Given the description of an element on the screen output the (x, y) to click on. 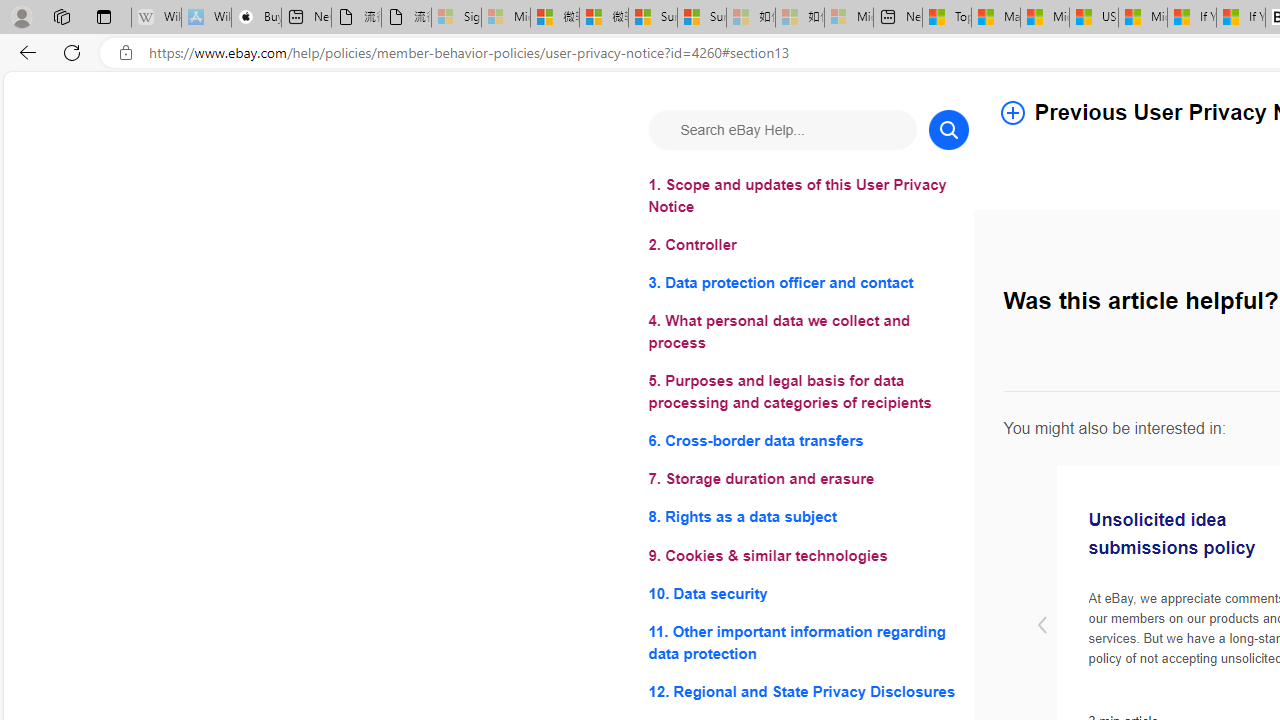
12. Regional and State Privacy Disclosures (807, 690)
6. Cross-border data transfers (807, 440)
4. What personal data we collect and process (807, 332)
